Given the description of an element on the screen output the (x, y) to click on. 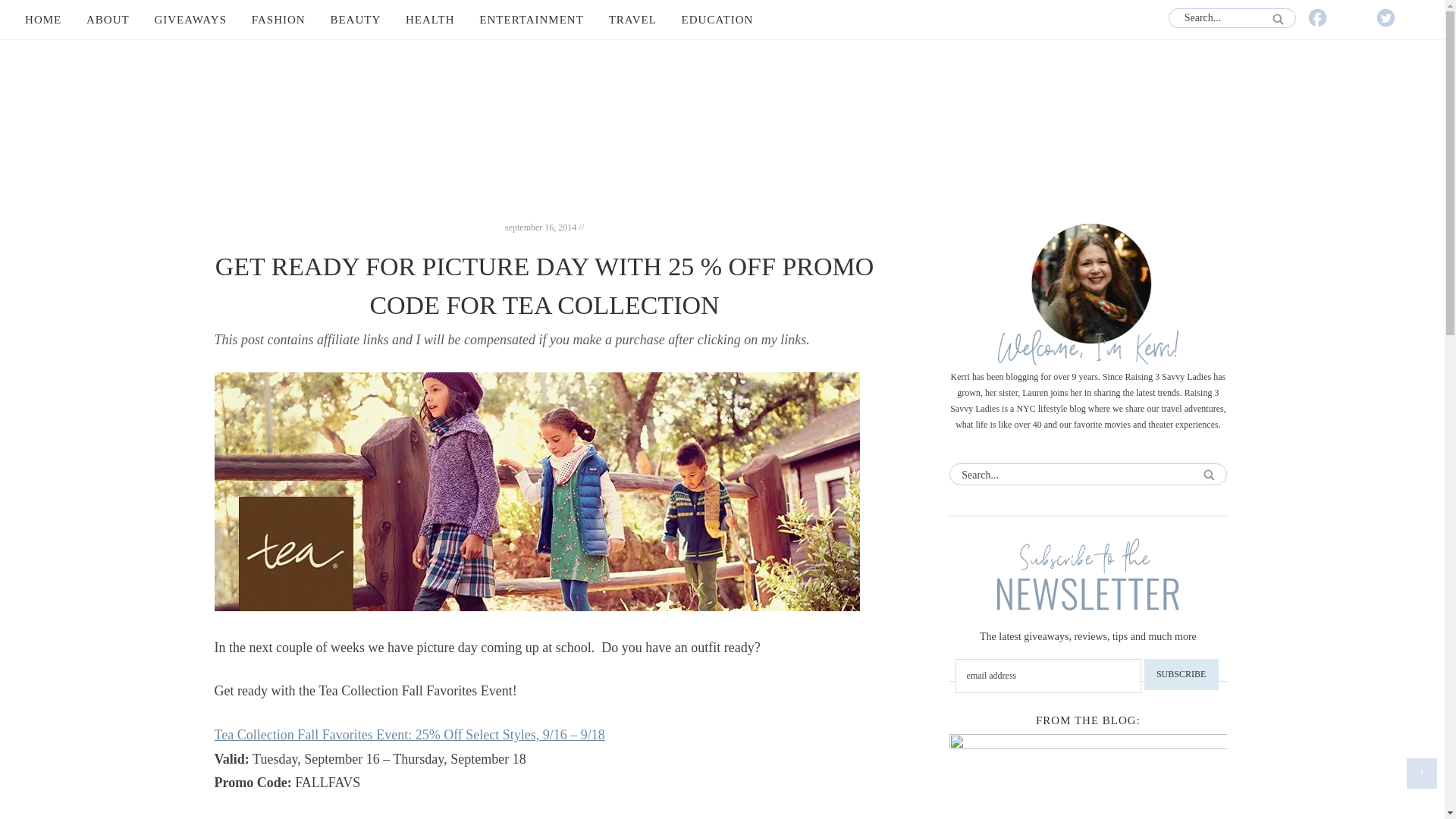
ENTERTAINMENT (531, 19)
HOME (42, 19)
EDUCATION (717, 19)
FASHION (278, 19)
Subscribe (1181, 674)
TRAVEL (632, 19)
Subscribe (1181, 674)
ABOUT (107, 19)
RAISING THREE SAVVY LADIES (722, 131)
BEAUTY (354, 19)
HEALTH (429, 19)
GIVEAWAYS (189, 19)
